Given the description of an element on the screen output the (x, y) to click on. 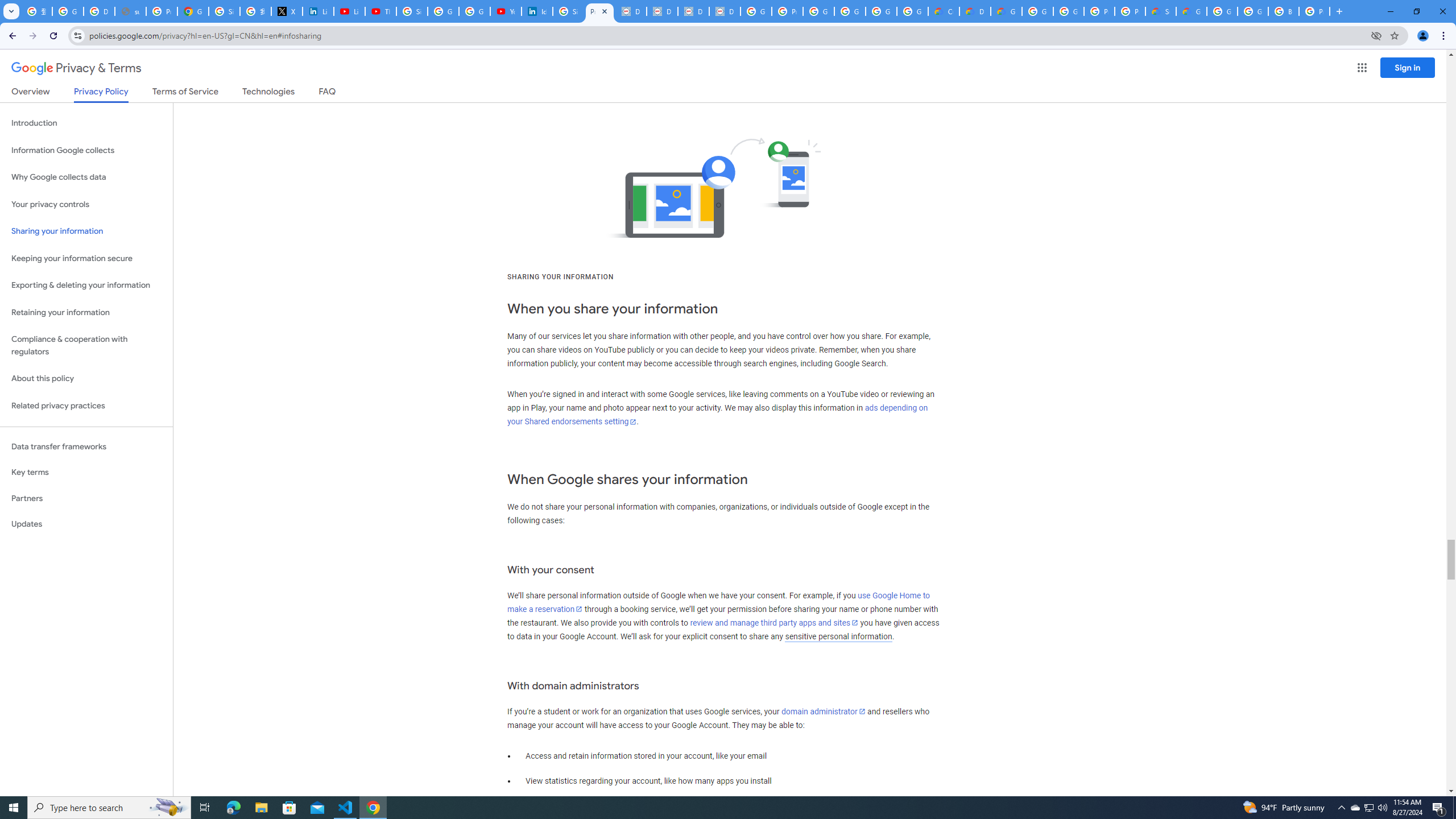
Google Cloud Platform (1068, 11)
Data Privacy Framework (662, 11)
support.google.com - Network error (130, 11)
review and manage third party apps and sites (774, 622)
